Given the description of an element on the screen output the (x, y) to click on. 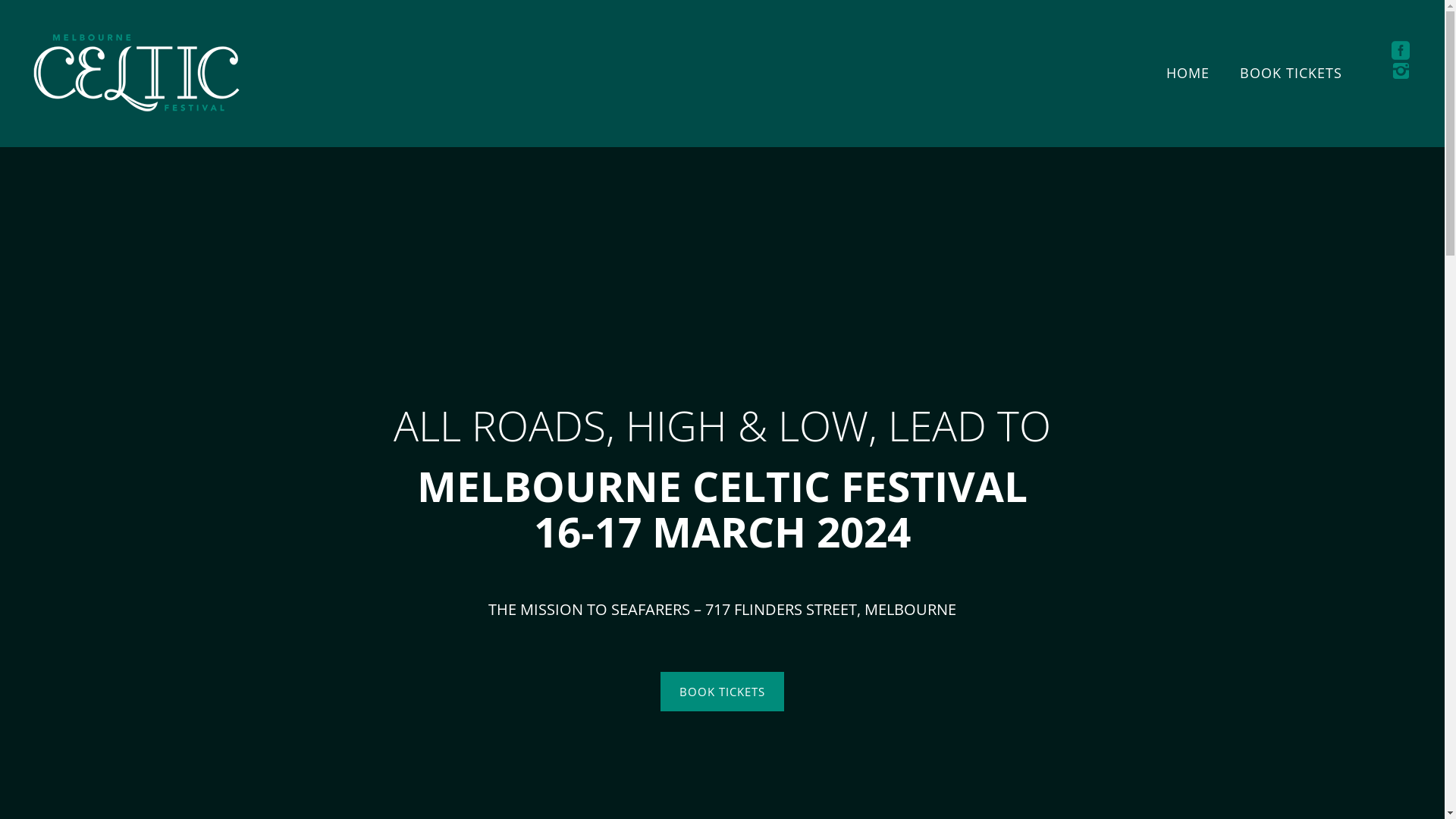
BOOK TICKETS Element type: text (1290, 72)
BOOK TICKETS Element type: text (722, 691)
HOME Element type: text (1187, 72)
